Given the description of an element on the screen output the (x, y) to click on. 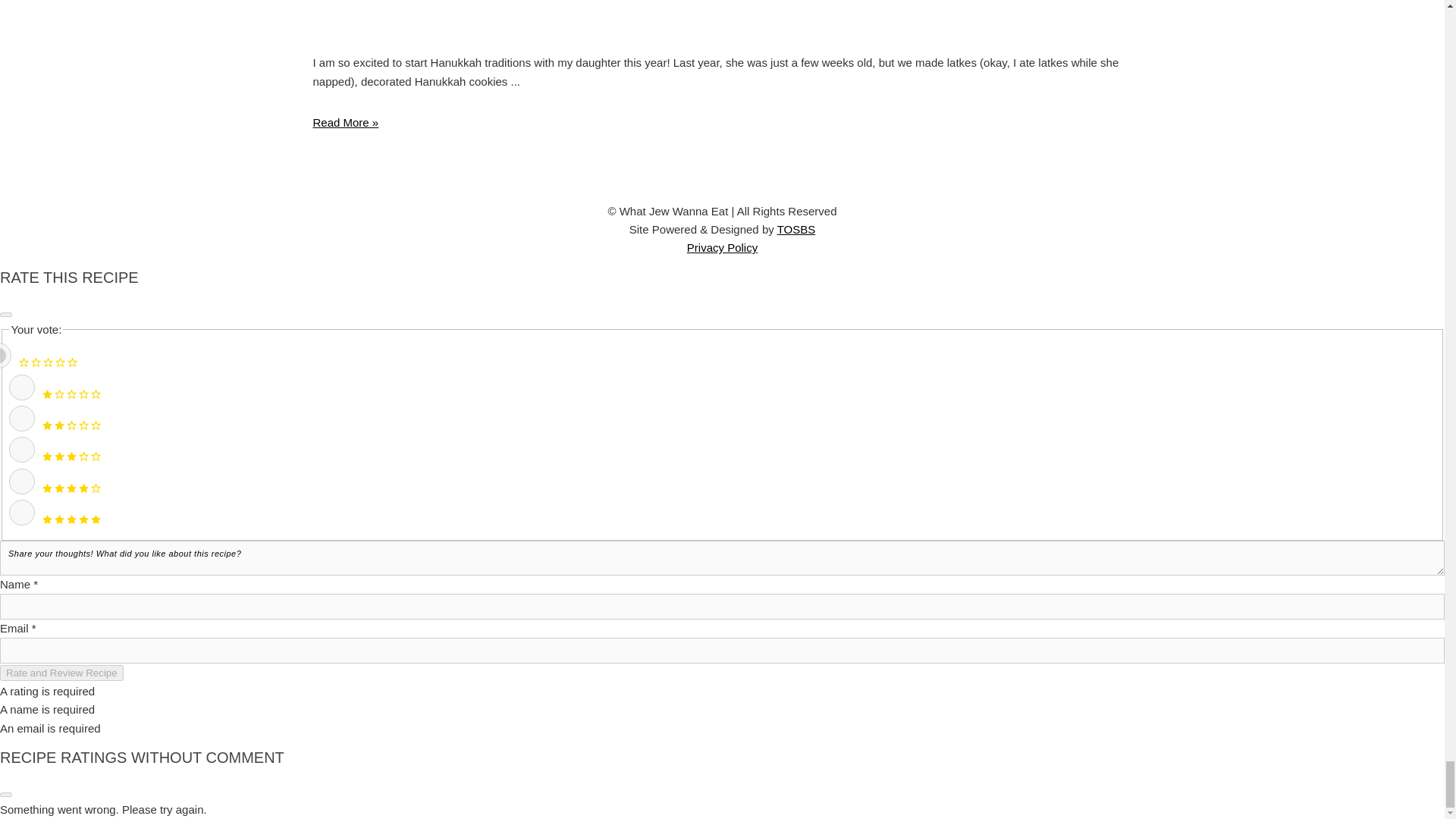
4 (21, 481)
2 (21, 418)
1 (21, 387)
3 (21, 449)
5 (21, 512)
